Given the description of an element on the screen output the (x, y) to click on. 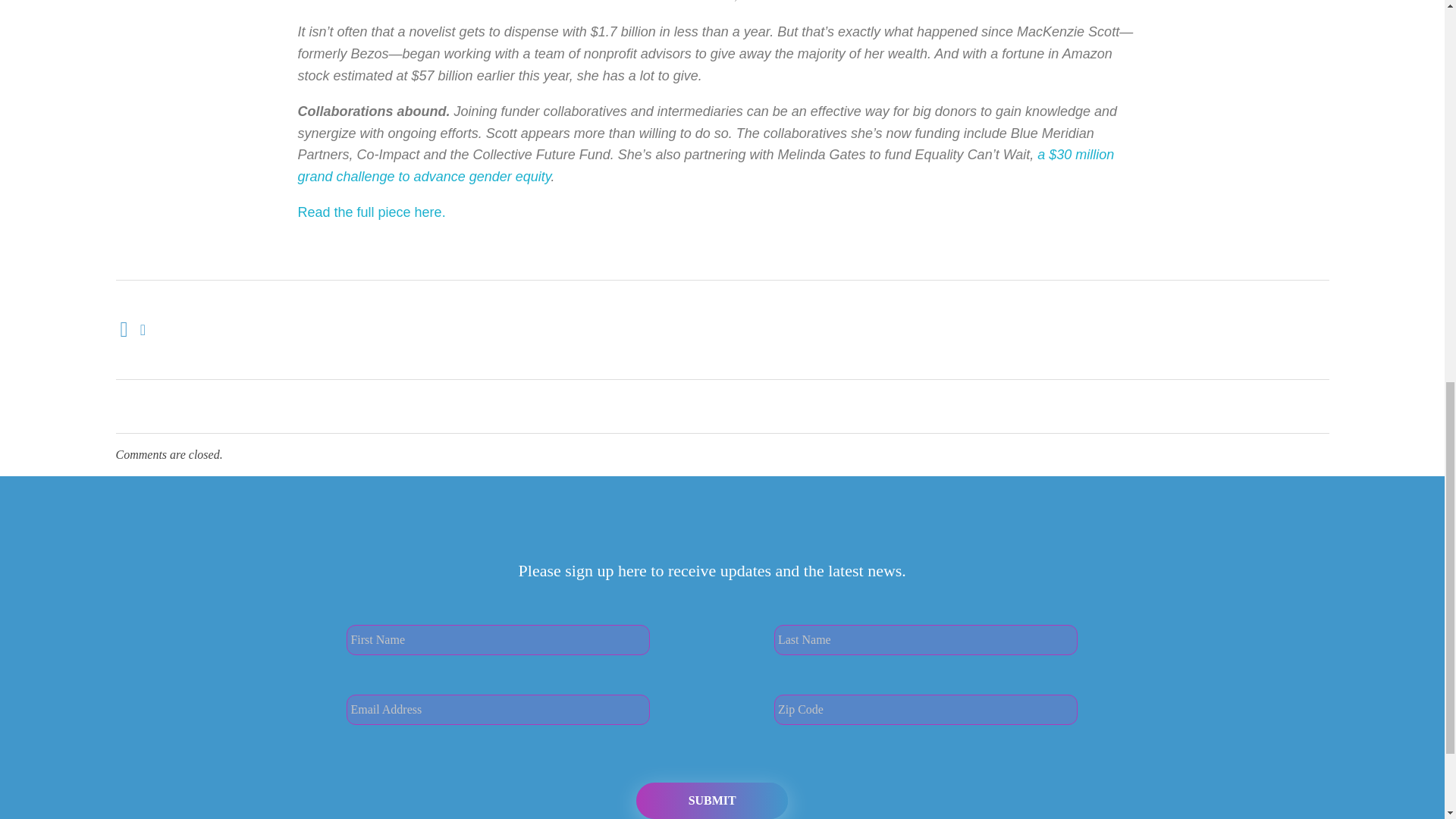
Submit (711, 683)
Read the full piece here. (371, 94)
Submit (711, 683)
